Given the description of an element on the screen output the (x, y) to click on. 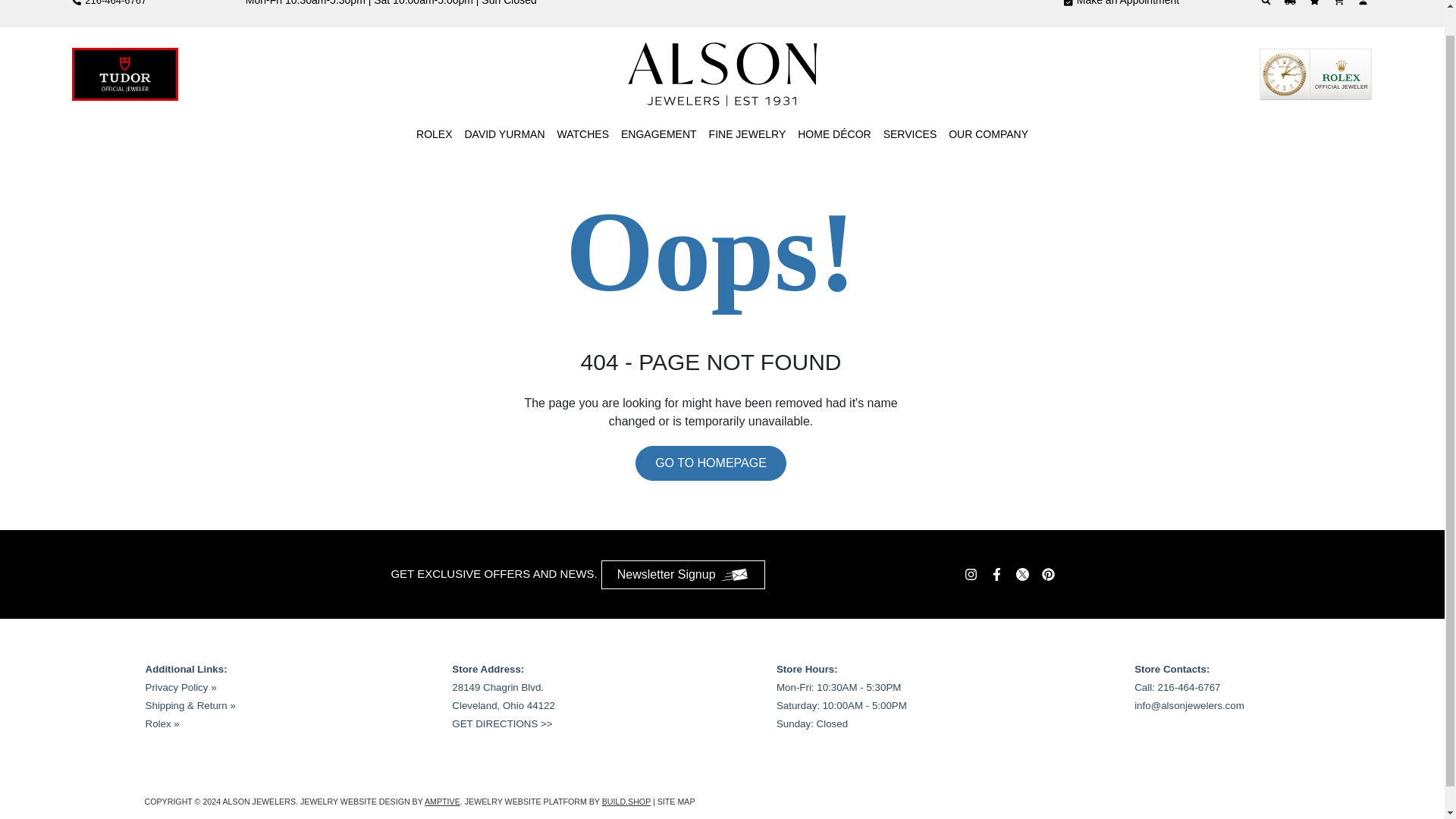
Alson Jewelers Logo (721, 74)
Make an Appointment (1120, 7)
ROLEX (433, 134)
DAVID YURMAN (504, 134)
ENGAGEMENT (659, 134)
Call us 216-464-6767 (109, 4)
Rolex (1316, 73)
216-464-6767 (109, 4)
Wishlist (1315, 2)
WATCHES (582, 134)
